Given the description of an element on the screen output the (x, y) to click on. 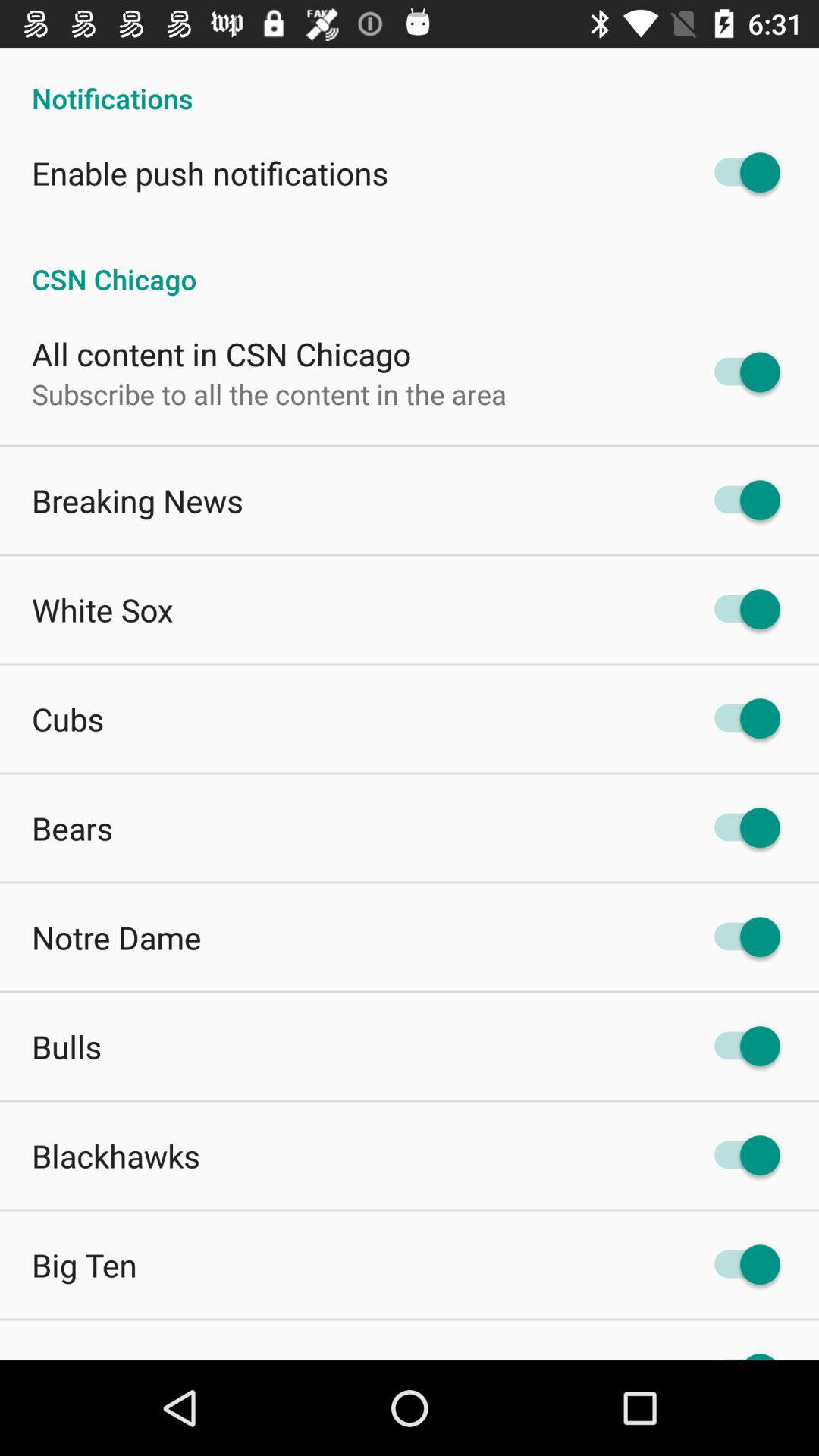
swipe until the blackhawks (115, 1155)
